Given the description of an element on the screen output the (x, y) to click on. 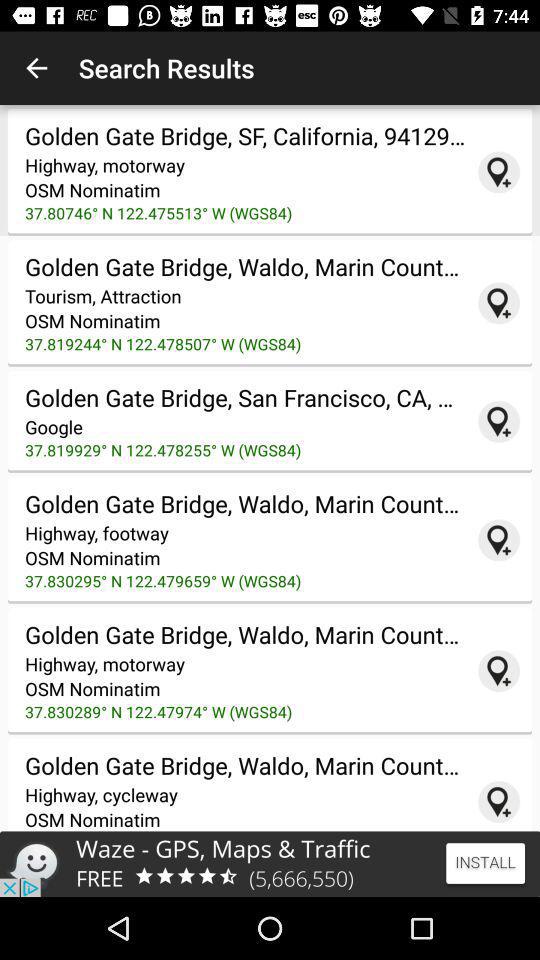
add this location (499, 303)
